Given the description of an element on the screen output the (x, y) to click on. 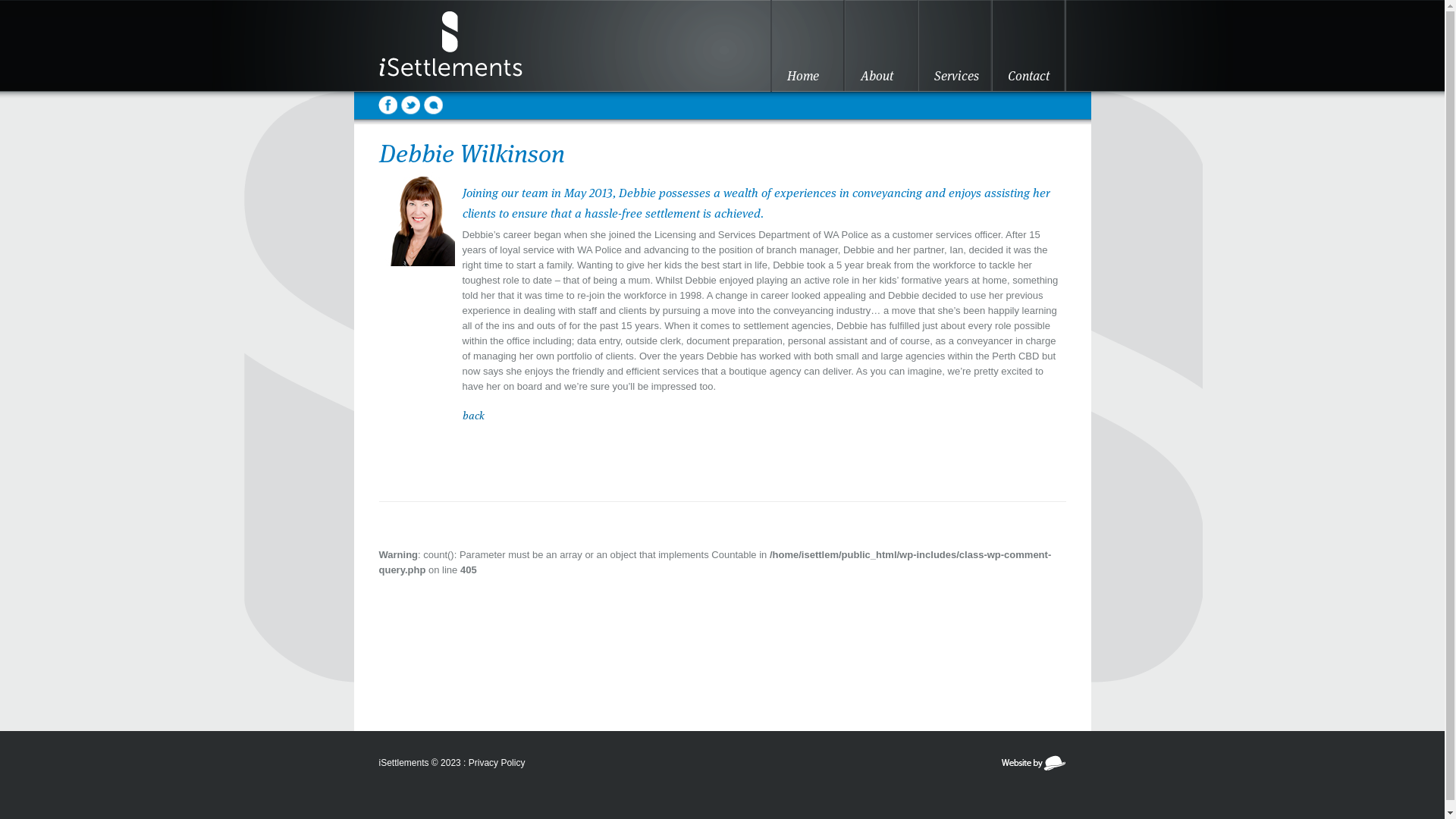
back Element type: text (473, 415)
Privacy Policy Element type: text (496, 762)
Debbie Wilkinson Element type: hover (417, 332)
About Element type: text (881, 45)
Services Element type: text (955, 45)
Thinking Hats Element type: hover (1032, 767)
Home Element type: text (808, 45)
Contact Element type: text (1028, 45)
iSettlements Element type: text (470, 45)
